Given the description of an element on the screen output the (x, y) to click on. 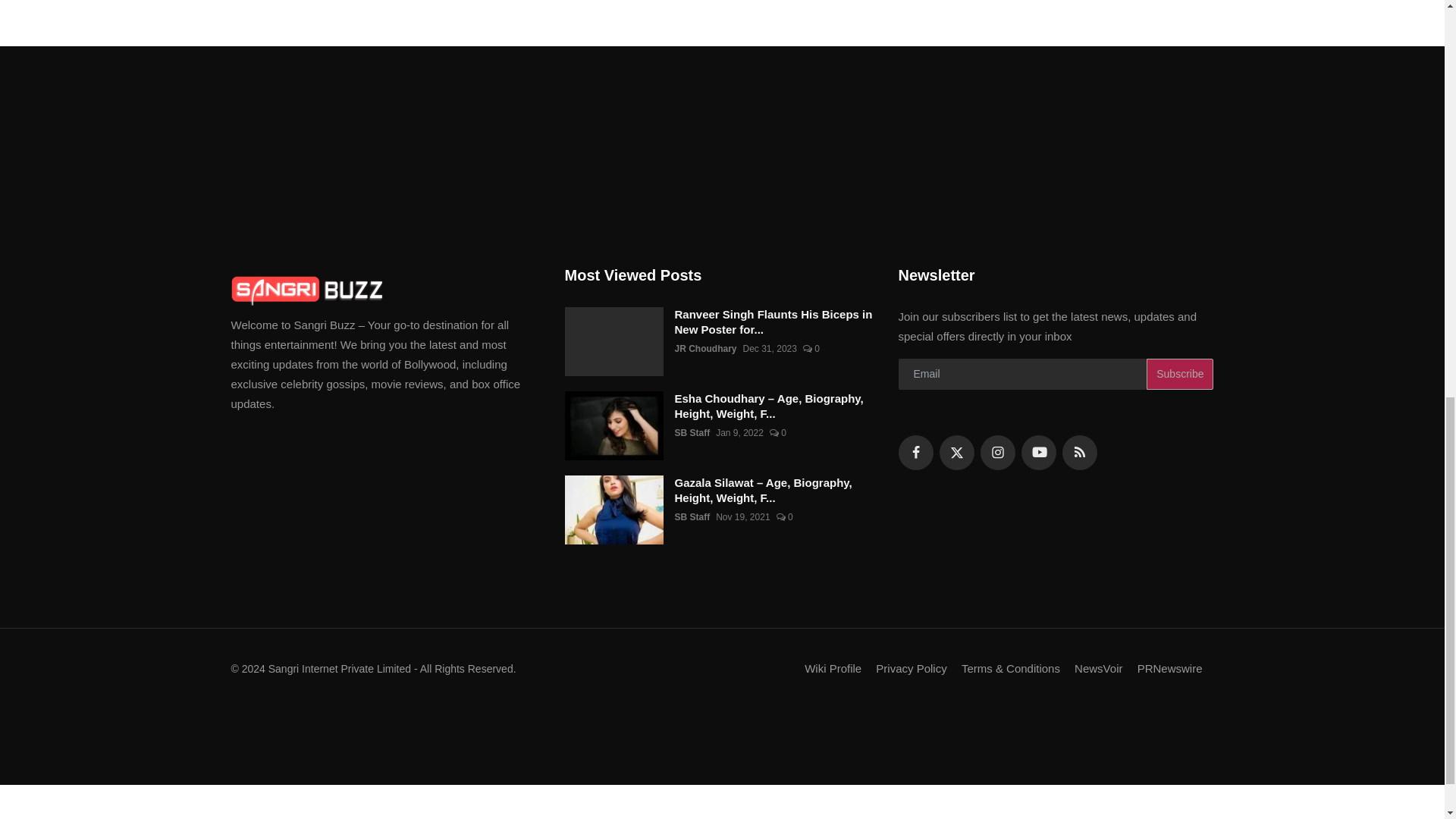
Advertisement (721, 805)
Advertisement (721, 156)
Advertisement (721, 750)
